Given the description of an element on the screen output the (x, y) to click on. 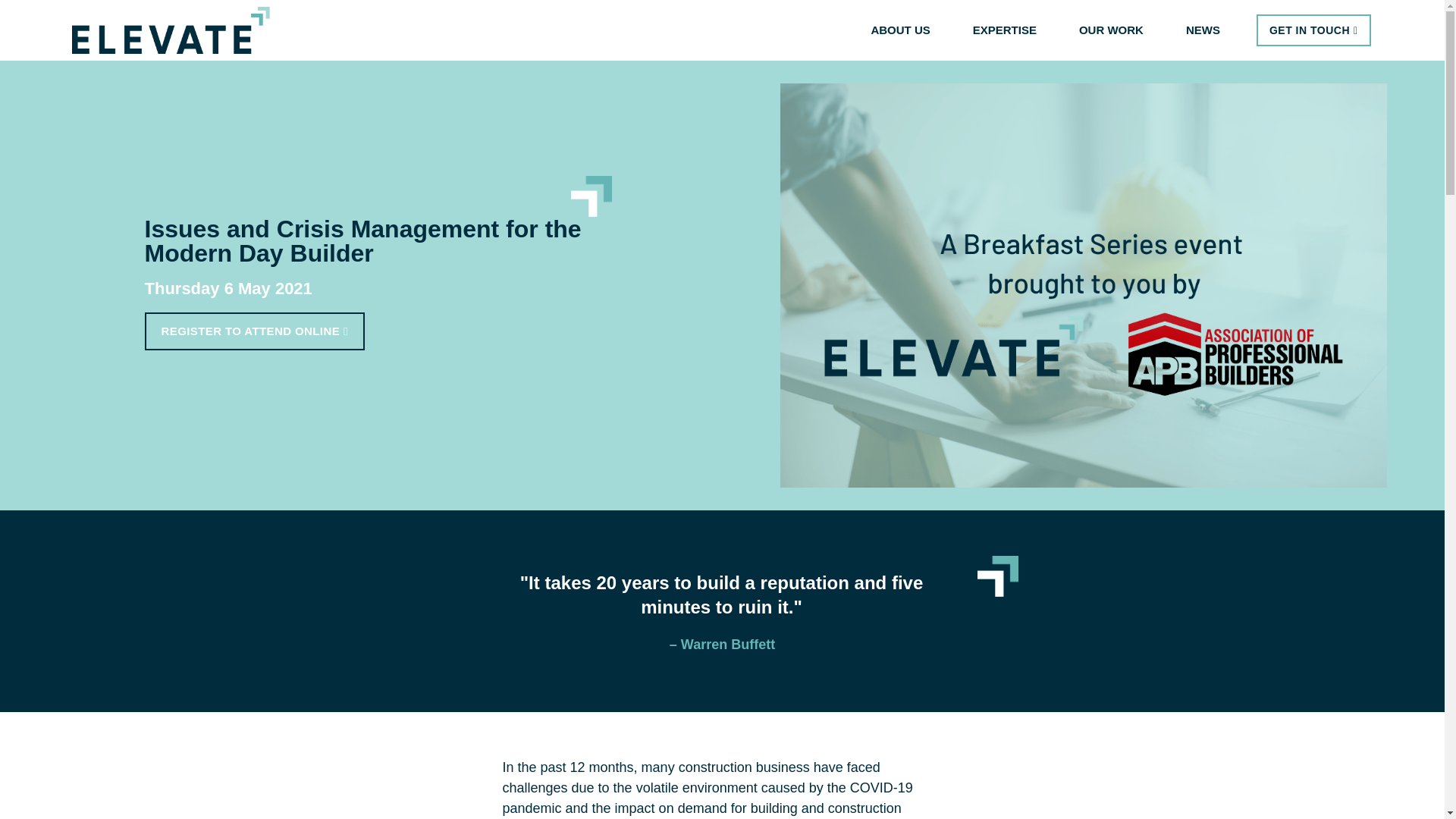
OUR WORK (1115, 29)
ABOUT US (903, 29)
NEWS (1202, 29)
EXPERTISE (1007, 29)
